Given the description of an element on the screen output the (x, y) to click on. 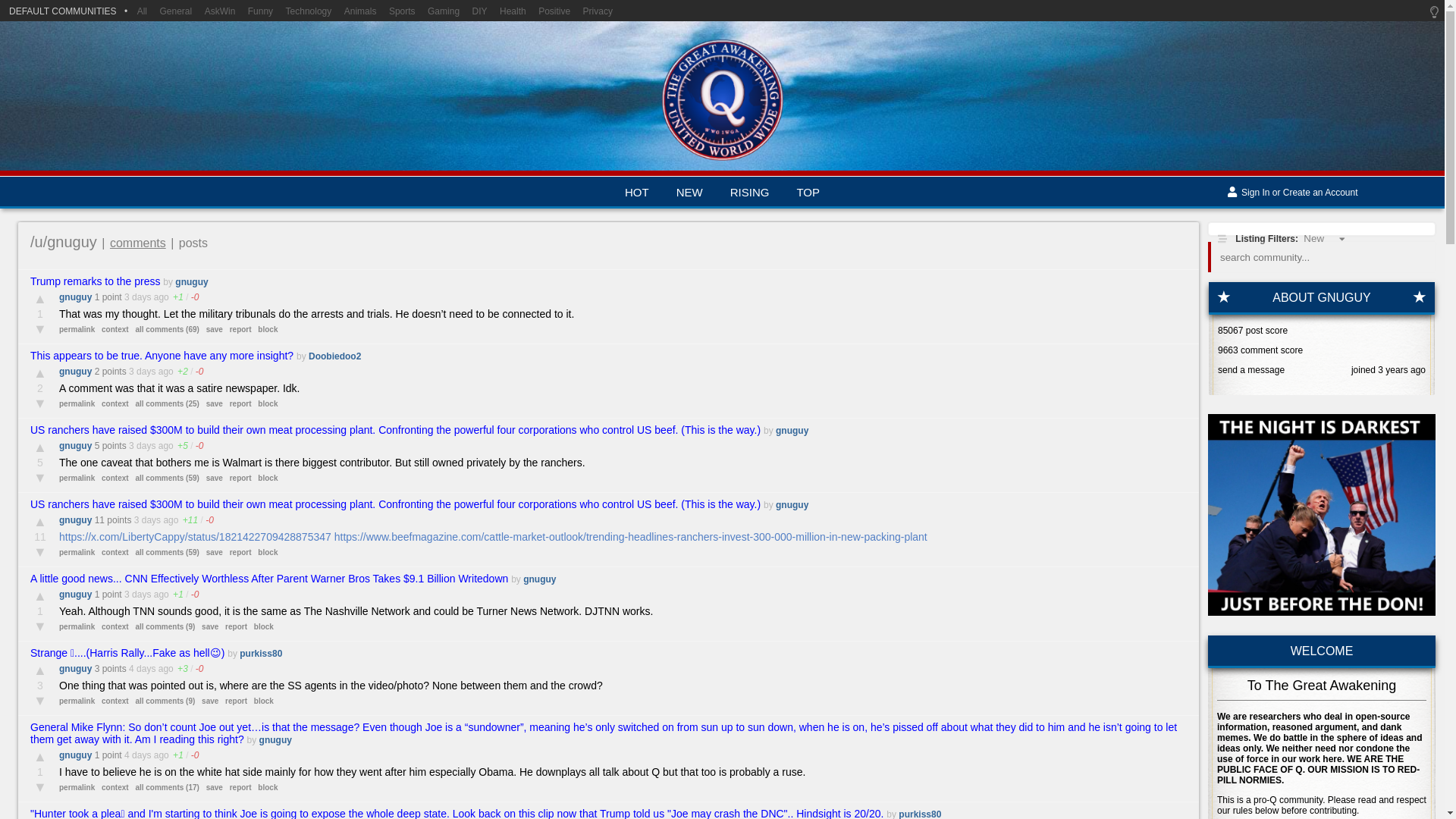
Thu Aug 08 00:05:38 GMT 2024 (137, 755)
Thu Aug 08 15:28:57 GMT 2024 (137, 593)
Fri Aug 09 01:41:52 GMT 2024 (142, 371)
Thu Aug 08 20:26:53 GMT 2024 (142, 445)
Fri Aug 09 01:44:20 GMT 2024 (137, 296)
Thu Aug 08 14:09:11 GMT 2024 (142, 668)
Thu Aug 08 19:31:23 GMT 2024 (146, 520)
